Given the description of an element on the screen output the (x, y) to click on. 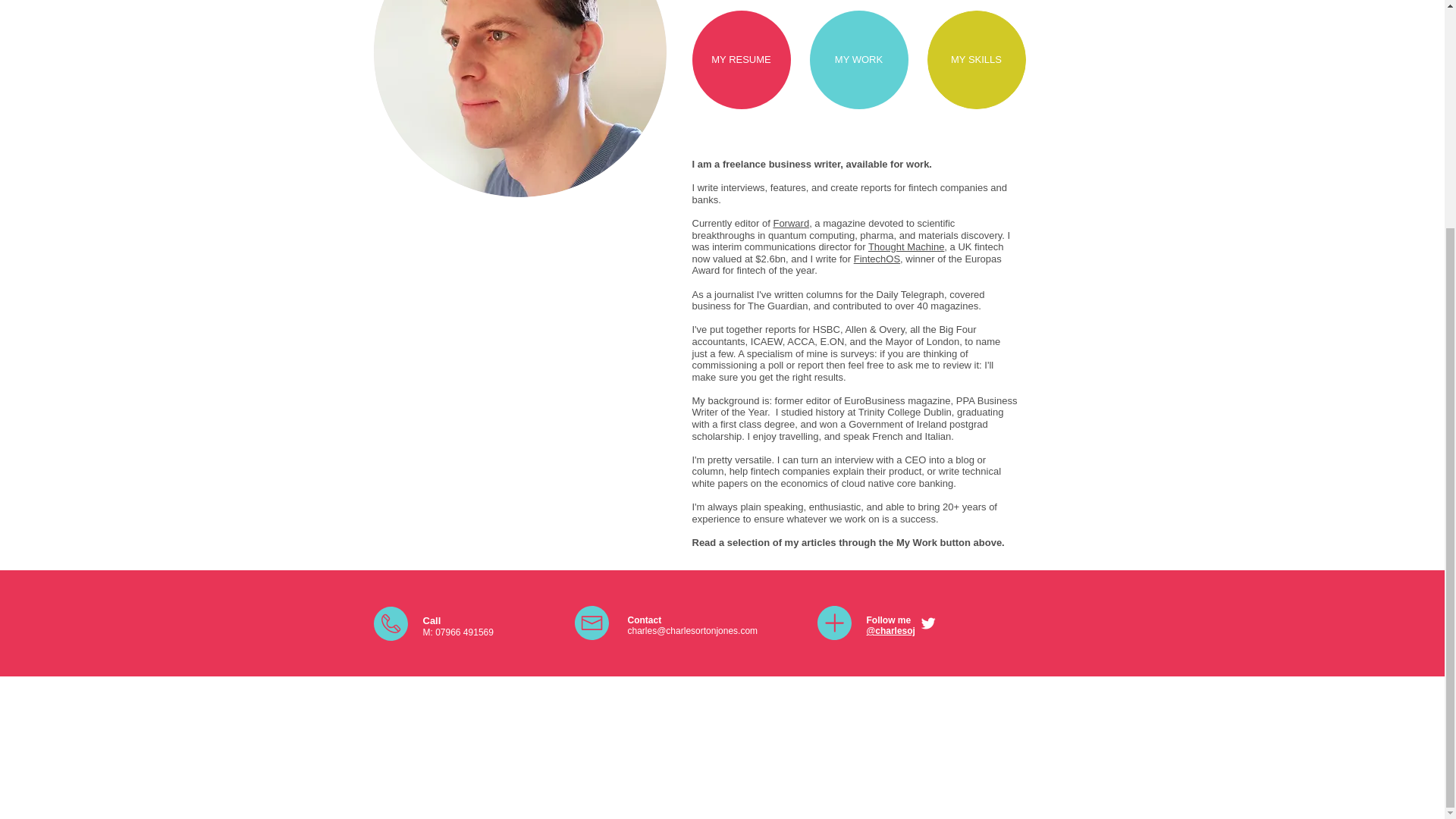
Charles Orton-Jones.jpg (518, 98)
MY WORK (858, 59)
MY SKILLS (975, 59)
FintechOS (876, 258)
Thought Machine (905, 246)
MY RESUME (740, 59)
Forward (791, 223)
